Given the description of an element on the screen output the (x, y) to click on. 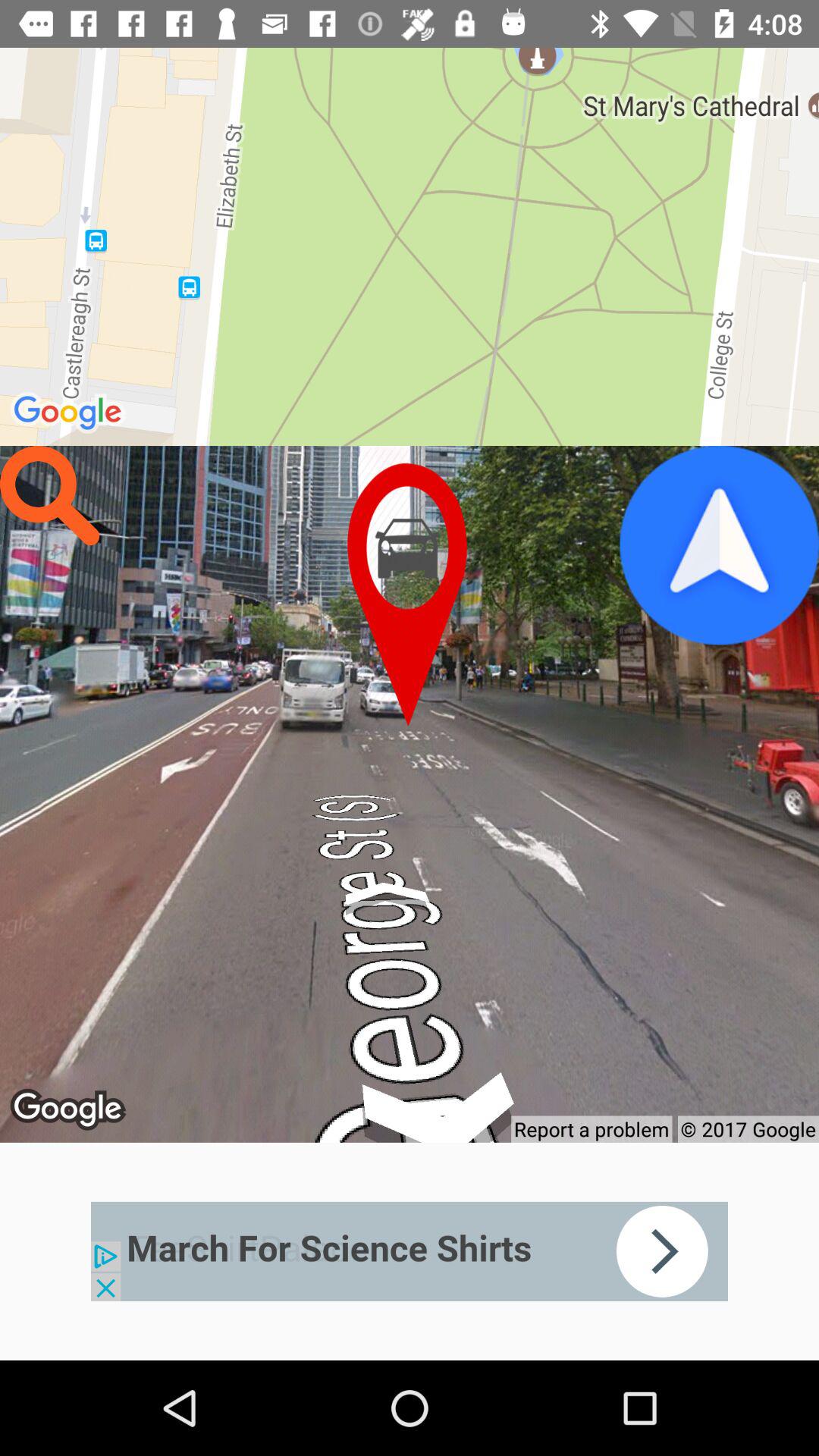
location of in simple (409, 594)
